Given the description of an element on the screen output the (x, y) to click on. 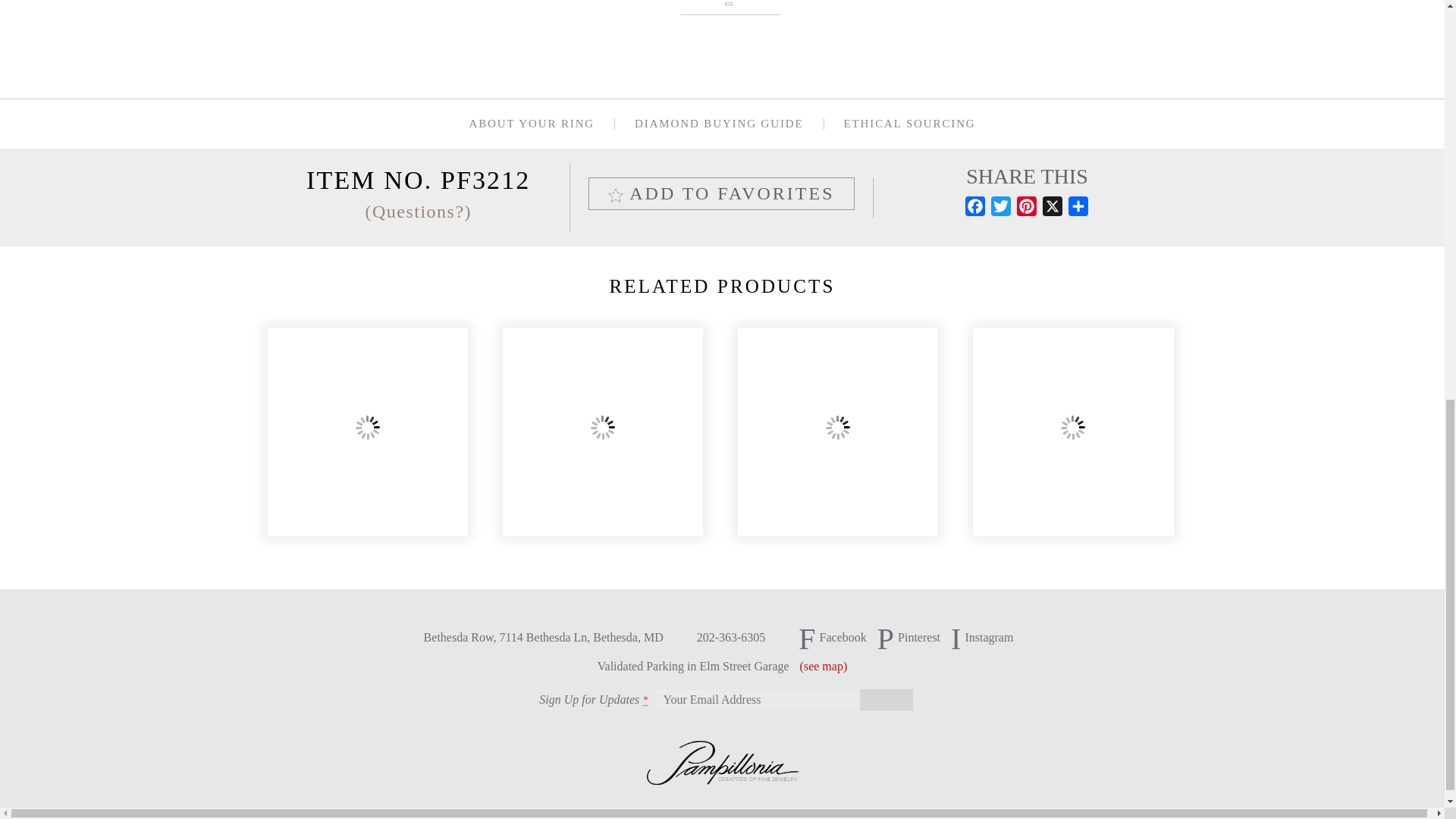
ETHICAL SOURCING (909, 123)
Add to favorites (721, 193)
Pinterest (1026, 208)
Twitter (1000, 208)
Facebook (975, 208)
ADD TO FAVORITES (721, 193)
Twitter (1000, 208)
Sign up (886, 699)
Pinterest (1026, 208)
ABOUT YOUR RING (531, 123)
